Given the description of an element on the screen output the (x, y) to click on. 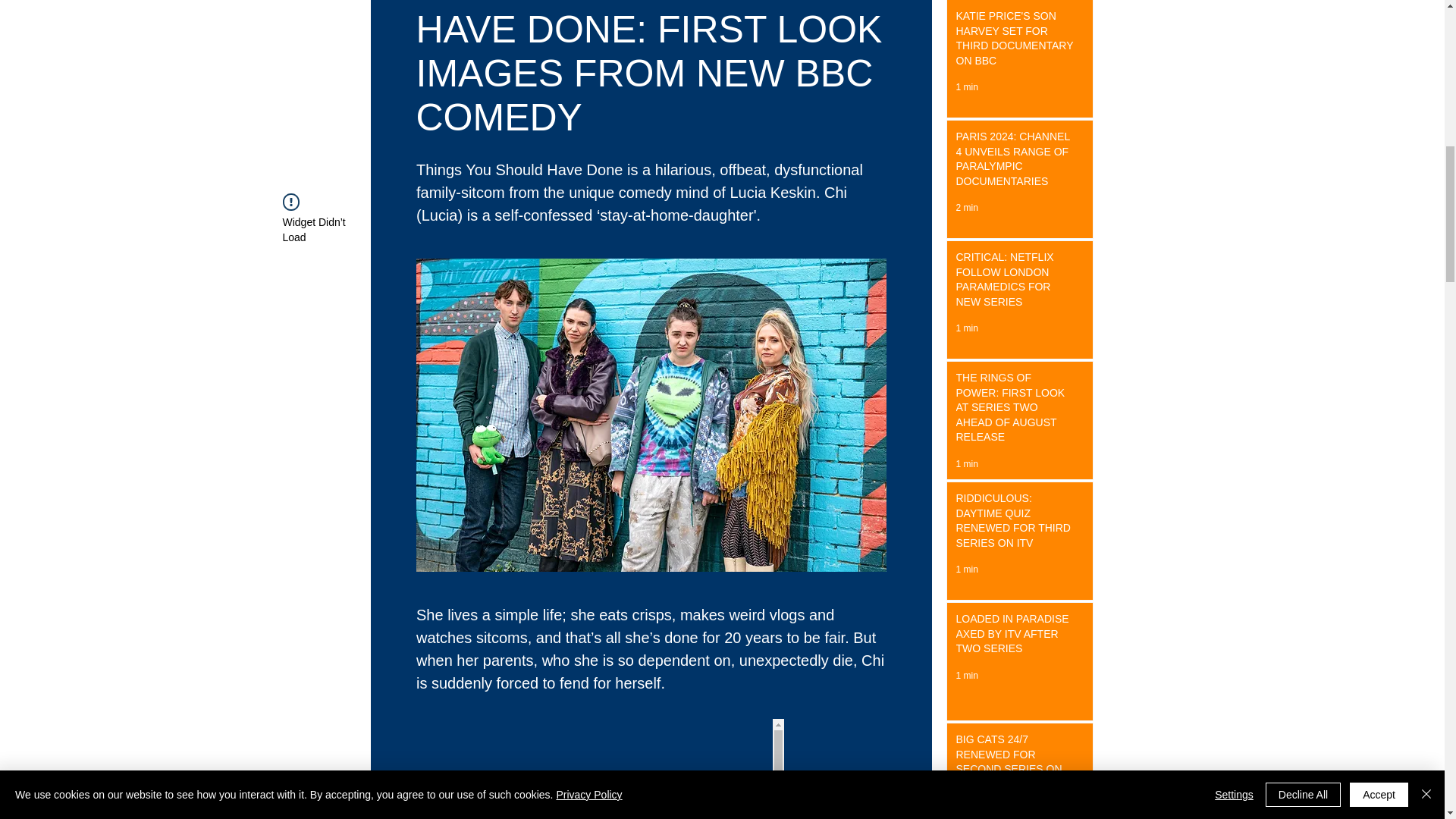
KATIE PRICE'S SON HARVEY SET FOR THIRD DOCUMENTARY ON BBC (1014, 41)
1 min (965, 569)
1 min (965, 463)
CRITICAL: NETFLIX FOLLOW LONDON PARAMEDICS FOR NEW SERIES (1014, 282)
2 min (965, 207)
RIDDICULOUS: DAYTIME QUIZ RENEWED FOR THIRD SERIES ON ITV (1014, 523)
1 min (965, 675)
1 min (965, 327)
1 min (965, 86)
remote content (651, 769)
